Given the description of an element on the screen output the (x, y) to click on. 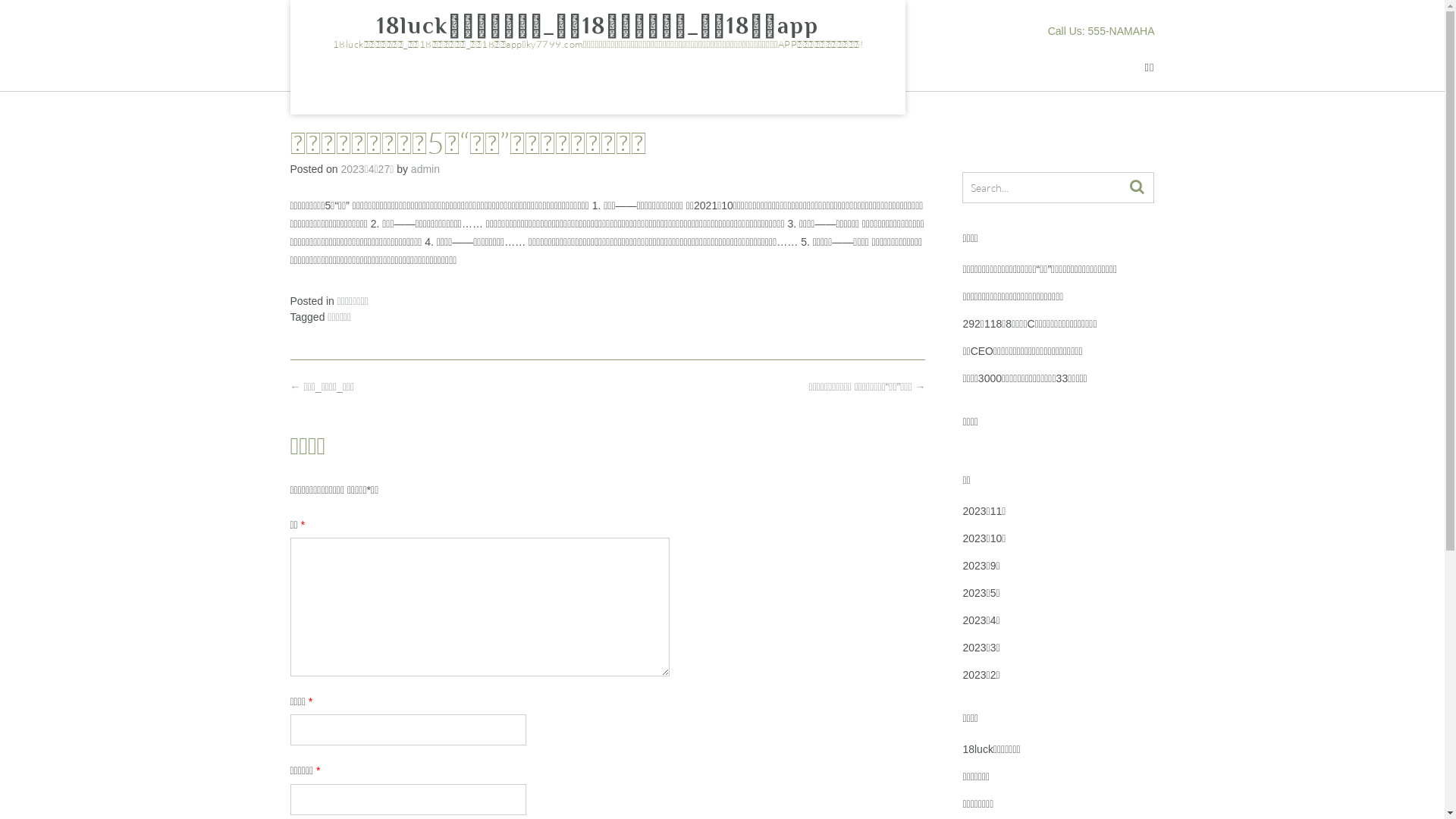
Search for: Element type: hover (1045, 186)
admin Element type: text (425, 169)
